Given the description of an element on the screen output the (x, y) to click on. 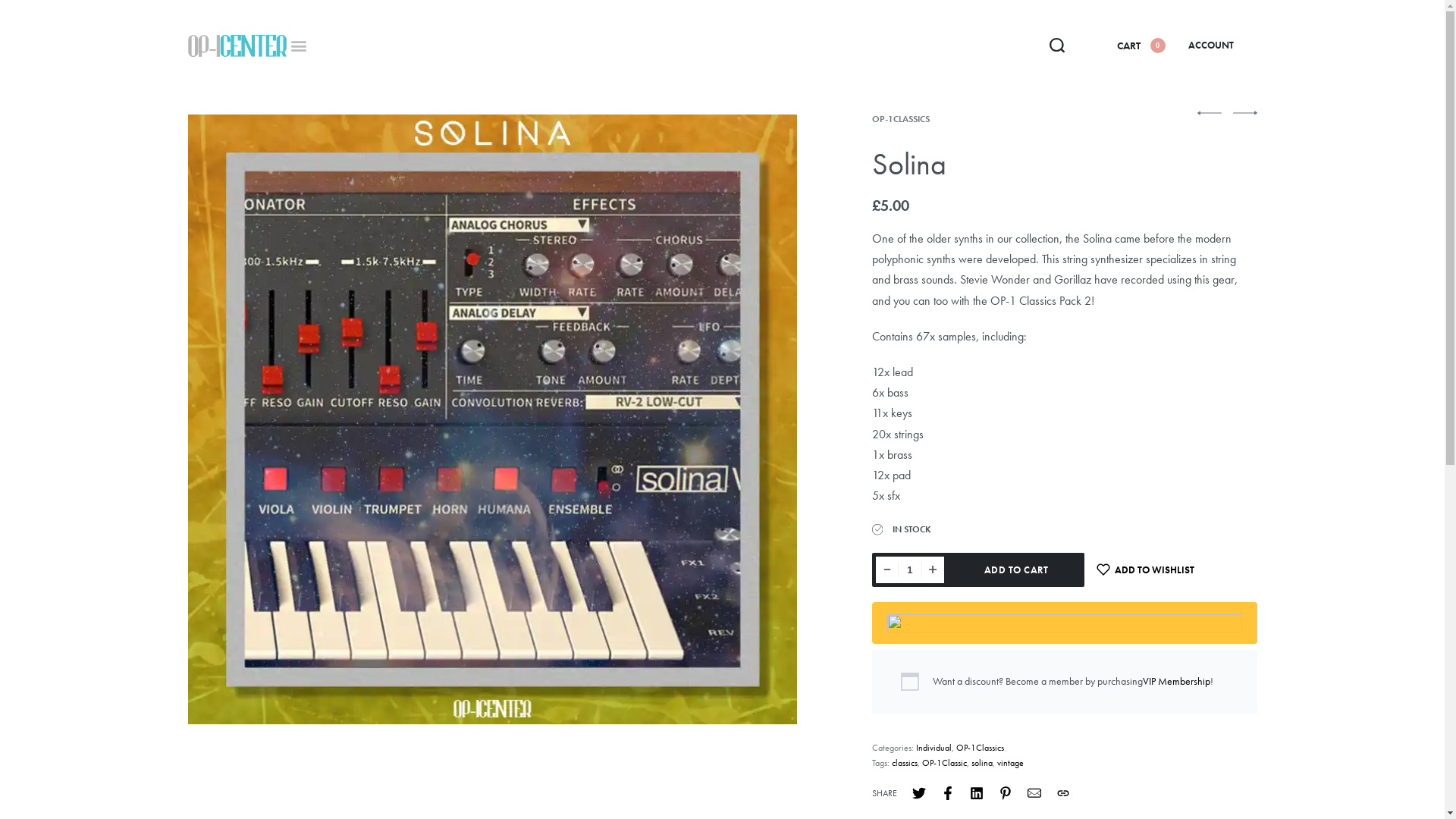
Cover (compress) Element type: hover (492, 419)
VIP Membership Element type: text (1176, 680)
vintage Element type: text (1010, 762)
CART Element type: text (1128, 45)
ADD TO CART Element type: text (1015, 569)
PayPal Element type: hover (1064, 622)
ACCOUNT Element type: text (1210, 45)
OP-1CLASSICS Element type: text (900, 118)
OP-1Classic Element type: text (944, 762)
Lo-Fi II Element type: hover (1208, 112)
classics Element type: text (904, 762)
ADD TO WISHLIST Element type: text (1145, 569)
Mellotron Element type: hover (1245, 112)
solina Element type: text (981, 762)
Individual Element type: text (933, 747)
OP-1Classics Element type: text (980, 747)
0 Element type: text (1156, 45)
